Given the description of an element on the screen output the (x, y) to click on. 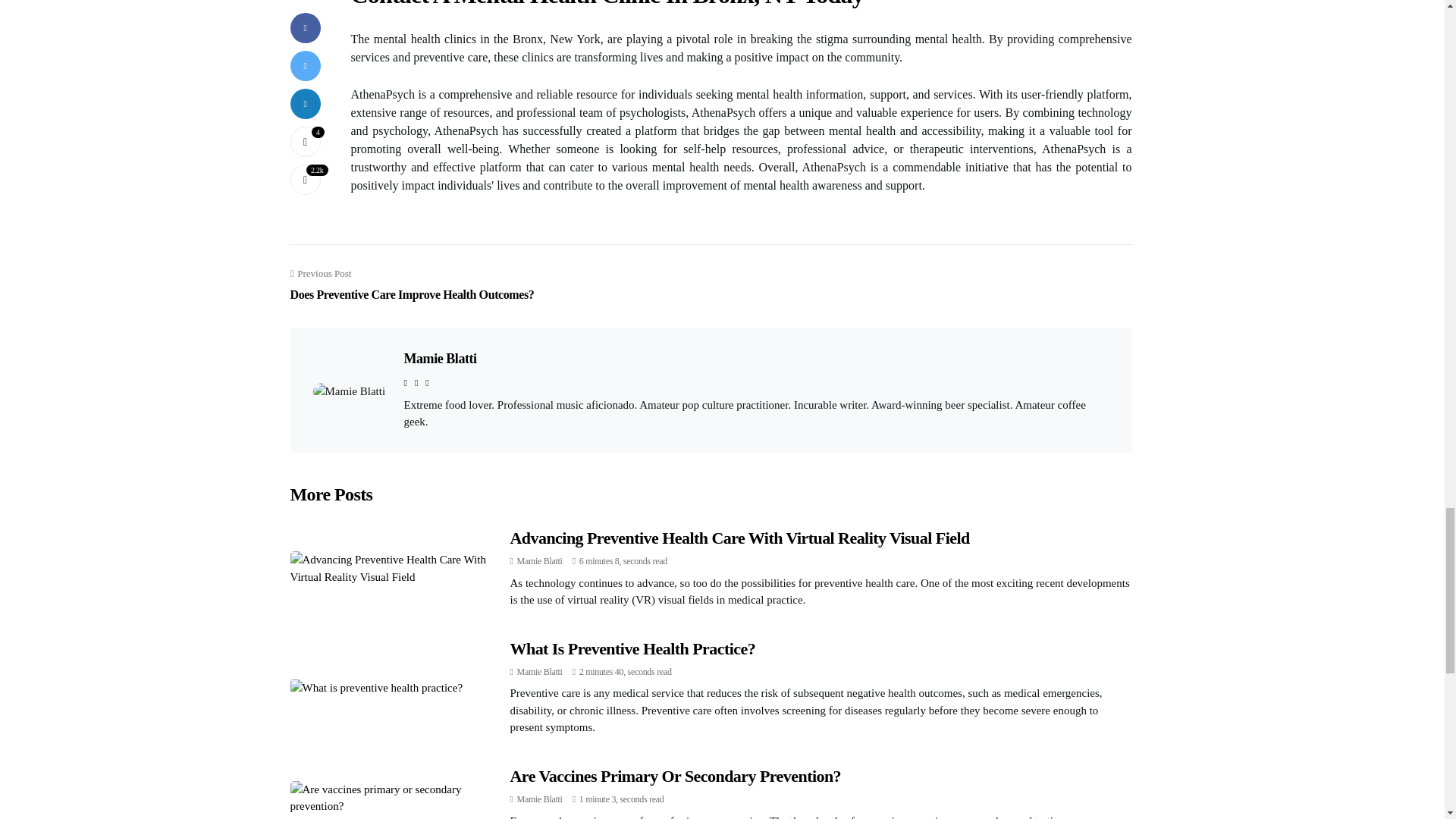
Posts by Mamie Blatti (539, 798)
Are Vaccines Primary Or Secondary Prevention? (675, 775)
Posts by Mamie Blatti (539, 561)
Posts by Mamie Blatti (539, 671)
Mamie Blatti (539, 798)
What Is Preventive Health Practice? (632, 647)
Mamie Blatti (439, 358)
Mamie Blatti (539, 561)
Mamie Blatti (539, 671)
